Given the description of an element on the screen output the (x, y) to click on. 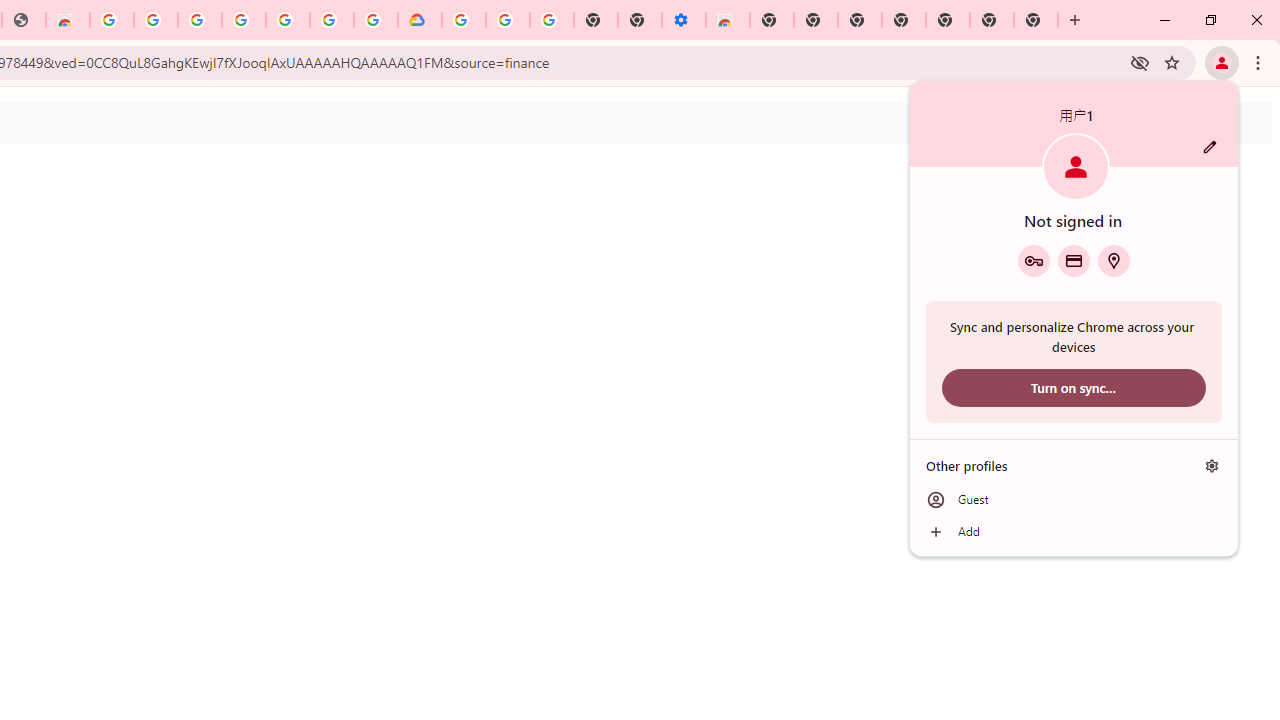
Sign in - Google Accounts (463, 20)
